Given the description of an element on the screen output the (x, y) to click on. 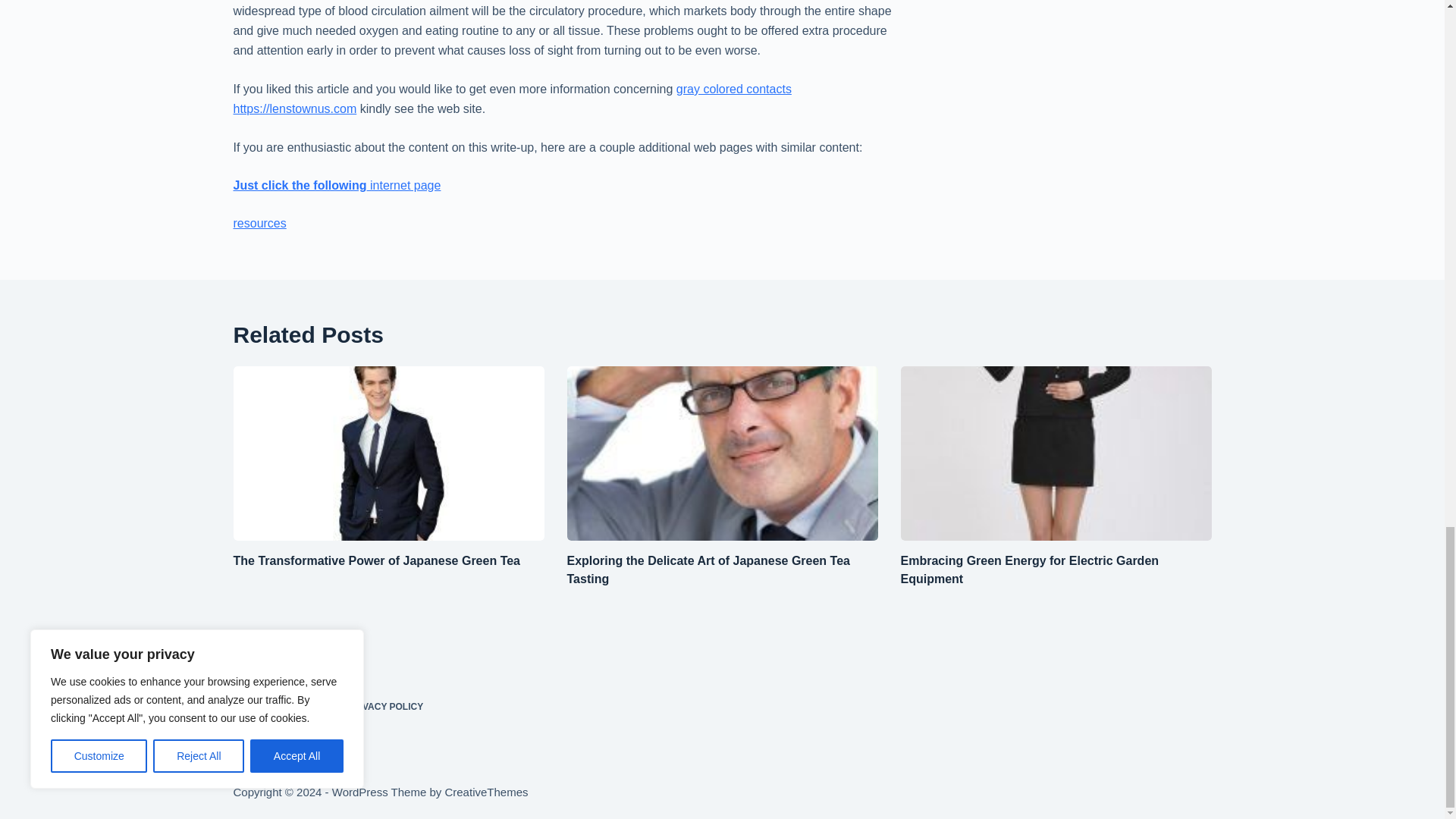
resources (259, 223)
Just click the following internet page (336, 185)
